Given the description of an element on the screen output the (x, y) to click on. 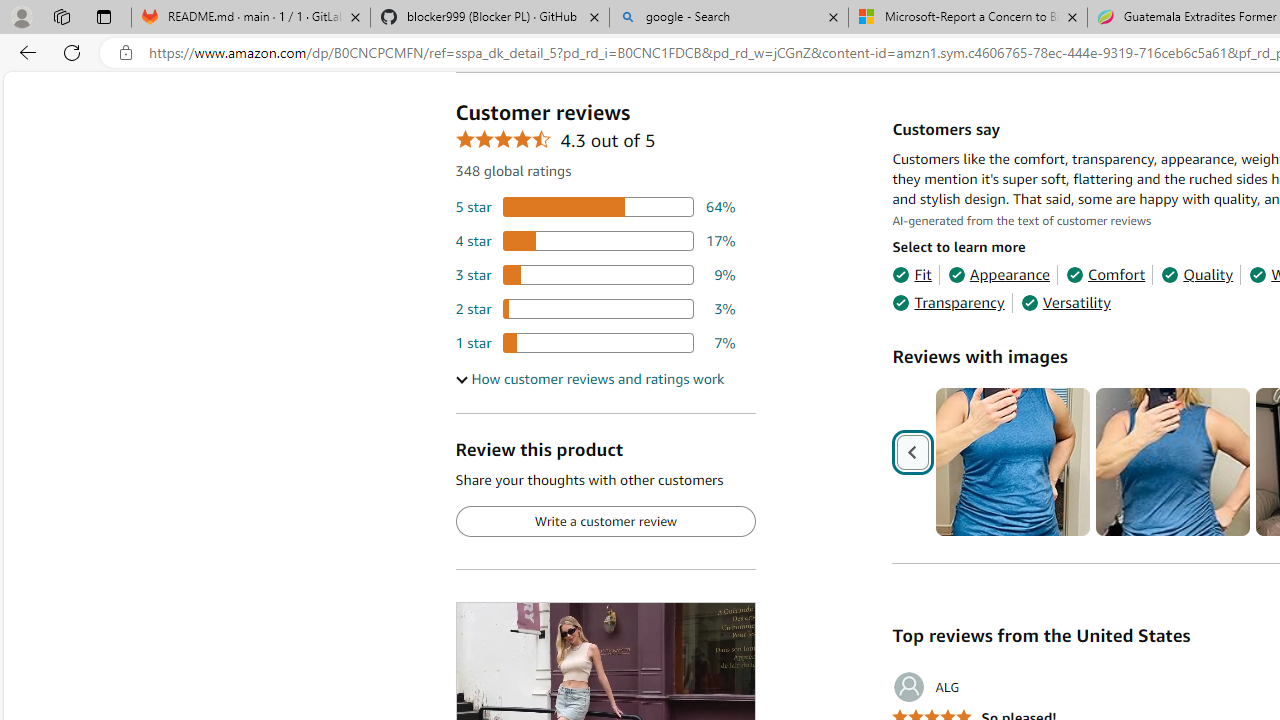
ALG (926, 687)
Fit (911, 274)
Comfort (1105, 274)
How customer reviews and ratings work (589, 379)
Transparency (948, 303)
Appearance (998, 274)
Customer Image (1172, 462)
17 percent of reviews have 4 stars (595, 241)
7 percent of reviews have 1 stars (595, 343)
Class: a-carousel-card (1173, 462)
